Given the description of an element on the screen output the (x, y) to click on. 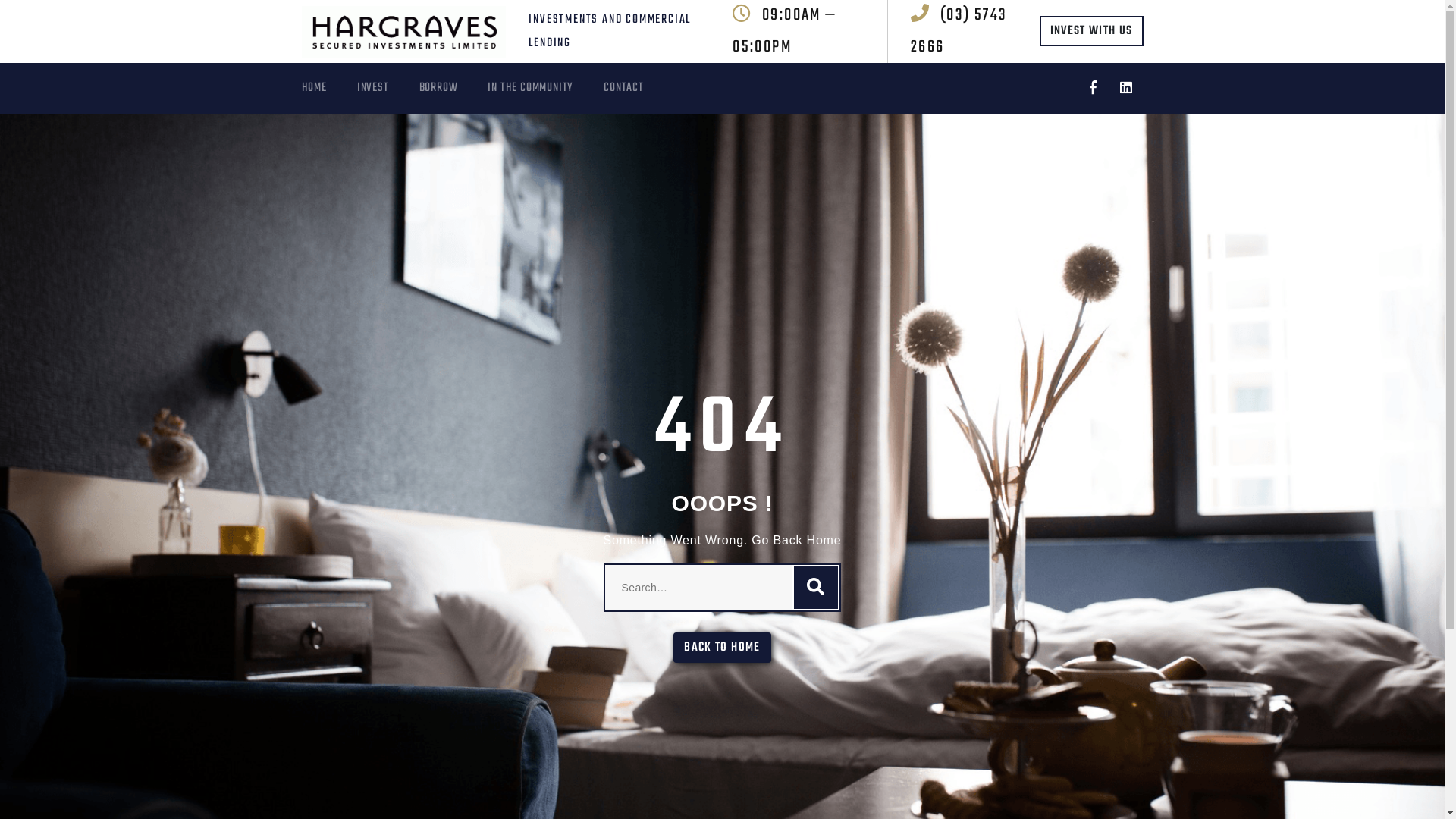
BACK TO HOME Element type: text (721, 647)
BORROW Element type: text (453, 88)
CONTACT Element type: text (638, 88)
INVEST Element type: text (388, 88)
Facebook Element type: text (1093, 87)
Search for: Element type: hover (722, 587)
Search Element type: text (816, 587)
HOME Element type: text (329, 88)
IN THE COMMUNITY Element type: text (545, 88)
LinkedIn Element type: text (1123, 87)
INVEST WITH US Element type: text (1091, 30)
